Given the description of an element on the screen output the (x, y) to click on. 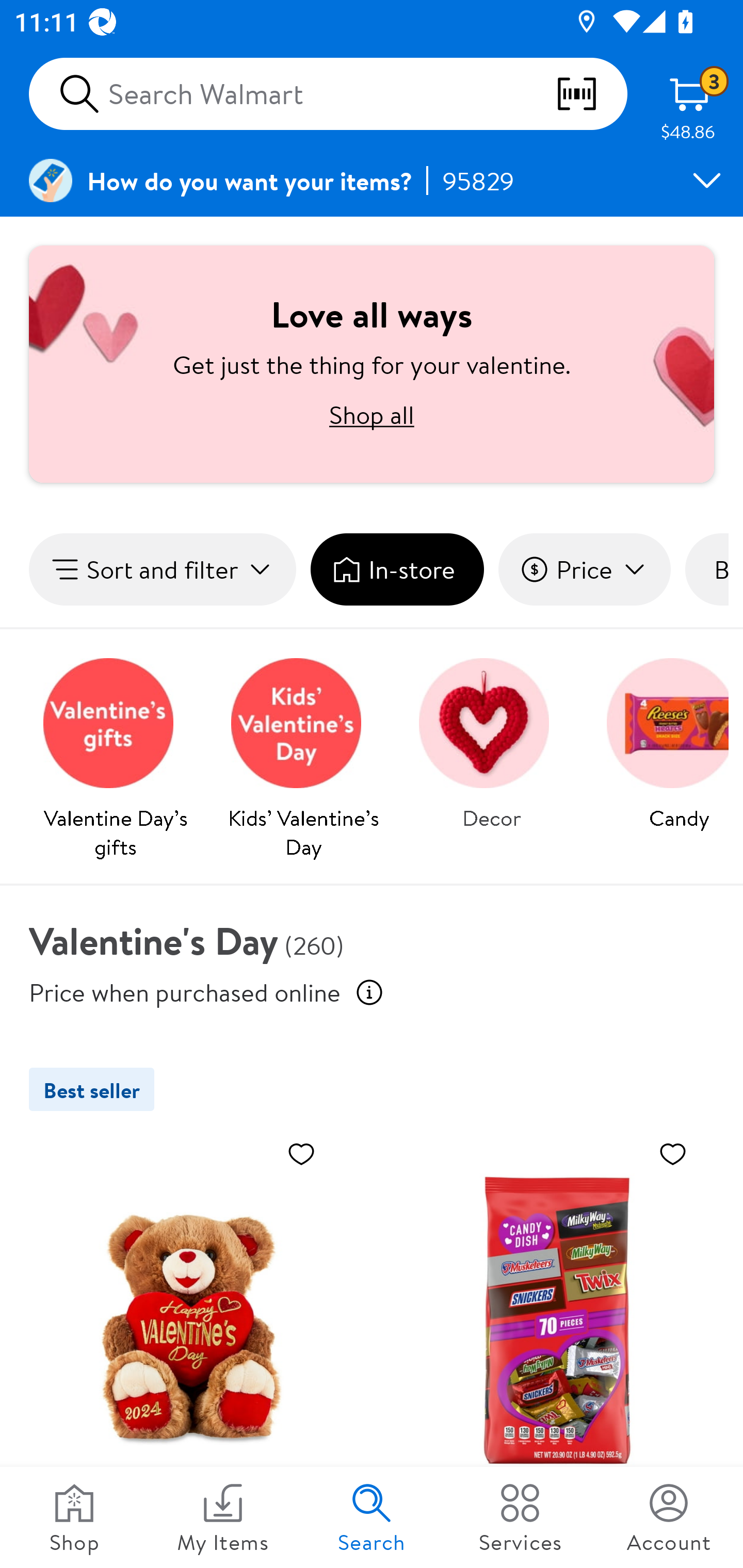
Search Walmart scan barcodes qr codes and more (327, 94)
scan barcodes qr codes and more (591, 94)
Shop all (371, 413)
Filter by In-store, applied,  Filter icon In-store (396, 569)
Search by Decor Decor (491, 738)
Search by Candy Candy (660, 738)
Price when purchased online (184, 991)
Price when purchased online (369, 992)
Shop (74, 1517)
My Items (222, 1517)
Services (519, 1517)
Account (668, 1517)
